Given the description of an element on the screen output the (x, y) to click on. 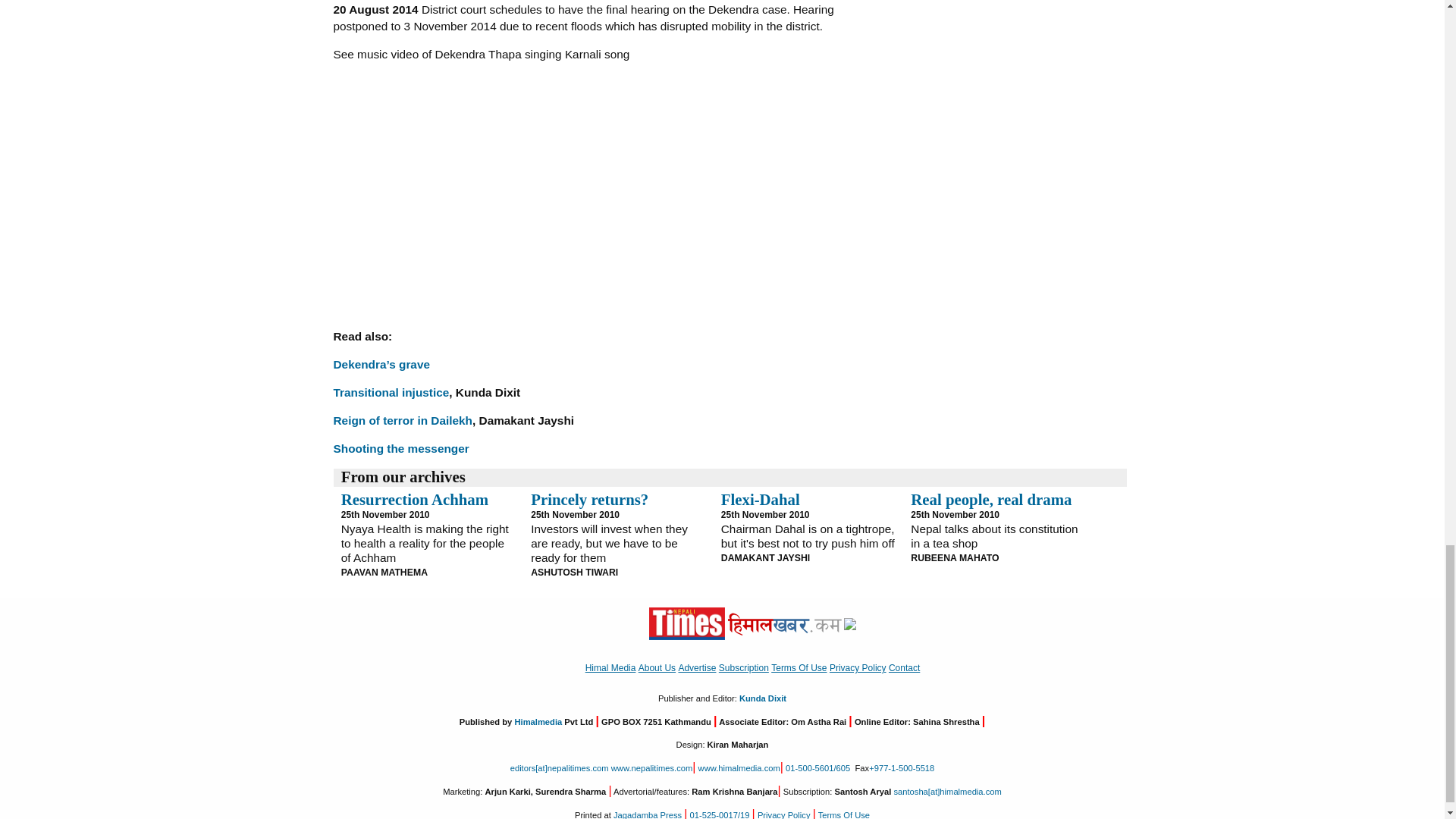
Nepali Times (687, 623)
Himalkhabar (784, 623)
Himal Media (850, 623)
